Given the description of an element on the screen output the (x, y) to click on. 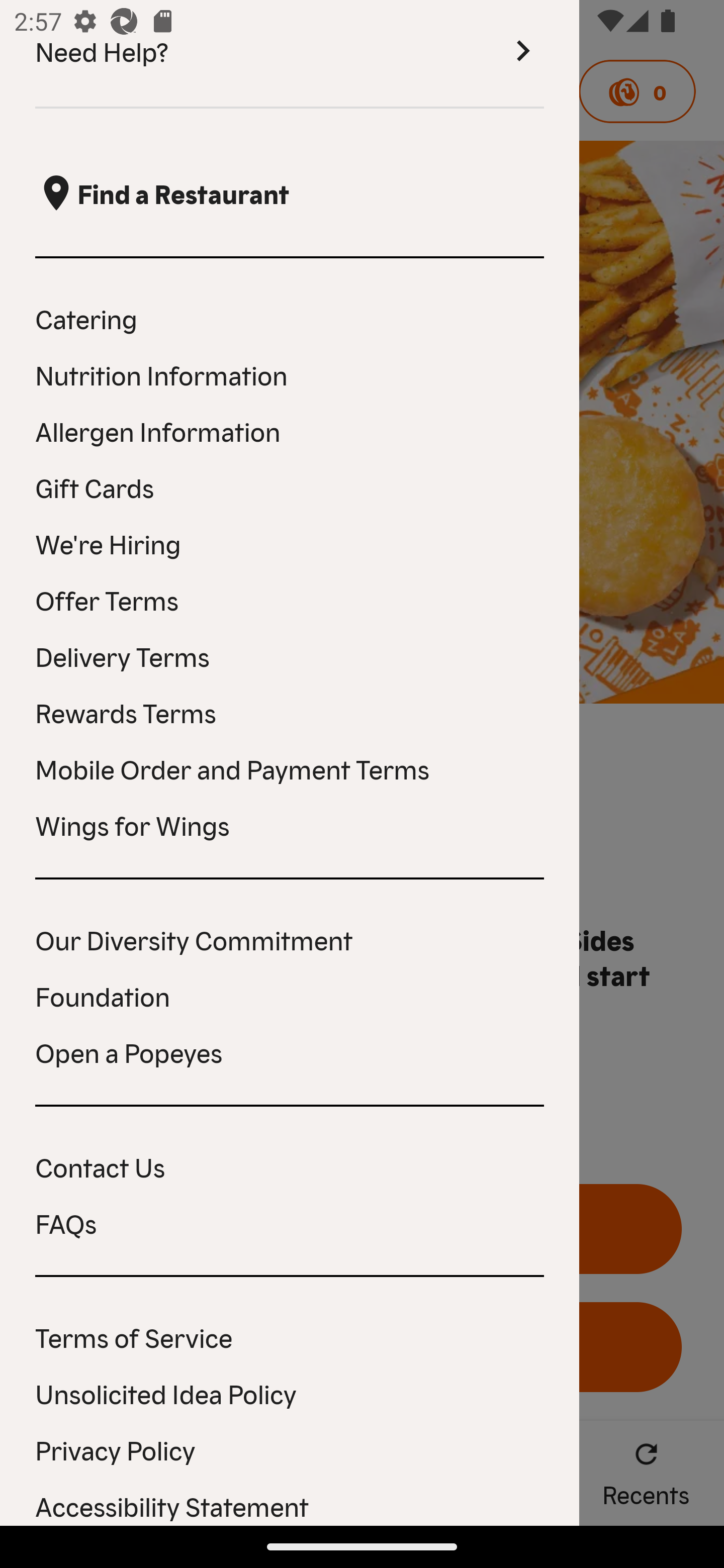
Need Help? Need Help?  (289, 54)
, Find a Restaurant  Find a Restaurant (289, 193)
Catering (289, 318)
Nutrition Information (289, 374)
Allergen Information (289, 430)
Gift Cards (289, 486)
We're Hiring (289, 543)
Offer Terms (289, 599)
Delivery Terms (289, 655)
Rewards Terms (289, 711)
Mobile Order and Payment Terms (289, 768)
Wings for Wings (289, 824)
Our Diversity Commitment (289, 938)
Foundation (289, 995)
Open a Popeyes (289, 1051)
Contact Us (289, 1166)
FAQs (289, 1222)
Terms of Service (289, 1336)
Unsolicited Idea Policy (289, 1393)
Privacy Policy (289, 1449)
Accessibility Statement (289, 1505)
